Given the description of an element on the screen output the (x, y) to click on. 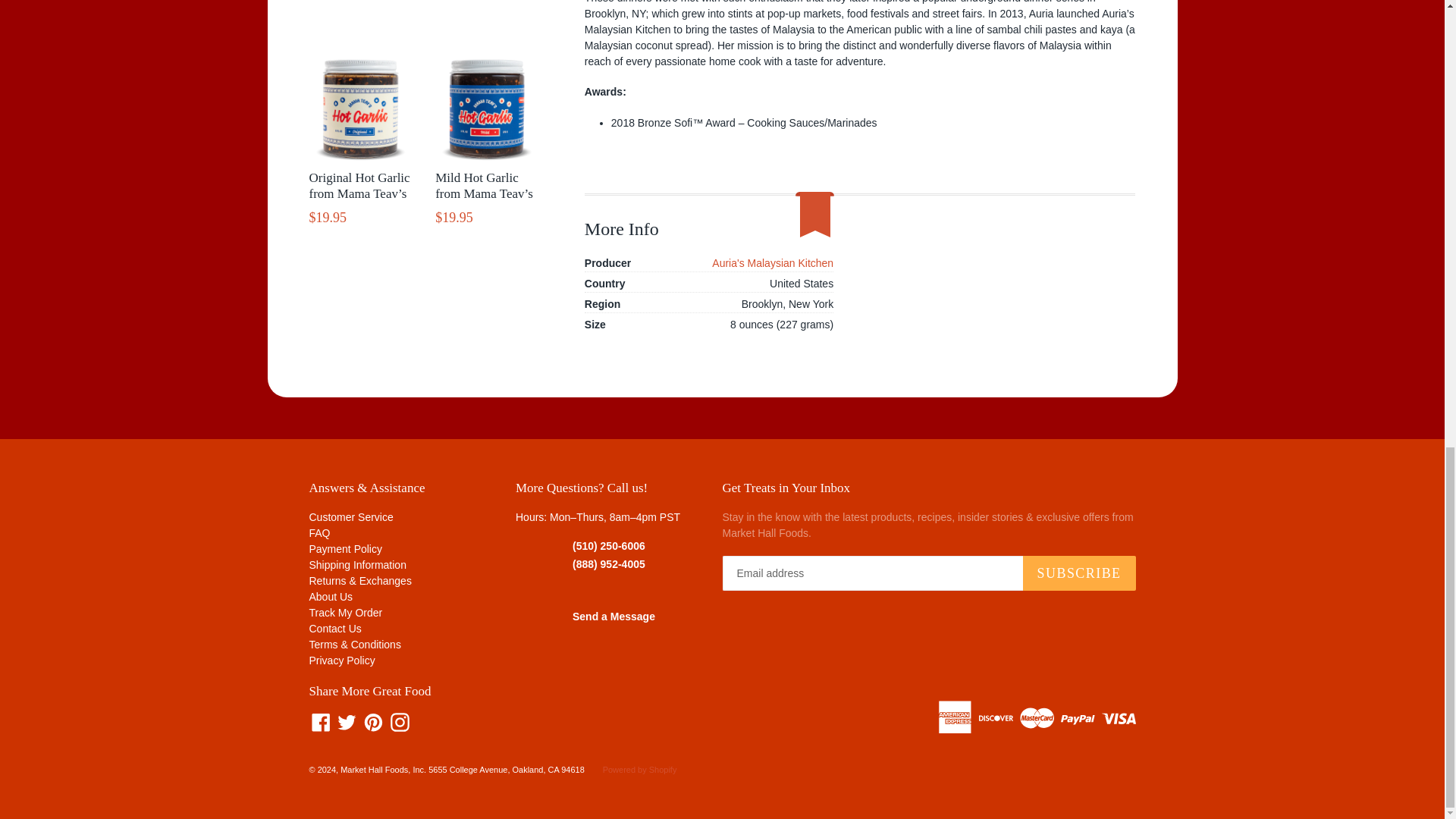
Market Hall Foods on Pinterest (373, 722)
Market Hall Foods on Twitter (346, 722)
Market Hall Foods on Instagram (400, 722)
Market Hall Foods on Facebook (320, 722)
